Given the description of an element on the screen output the (x, y) to click on. 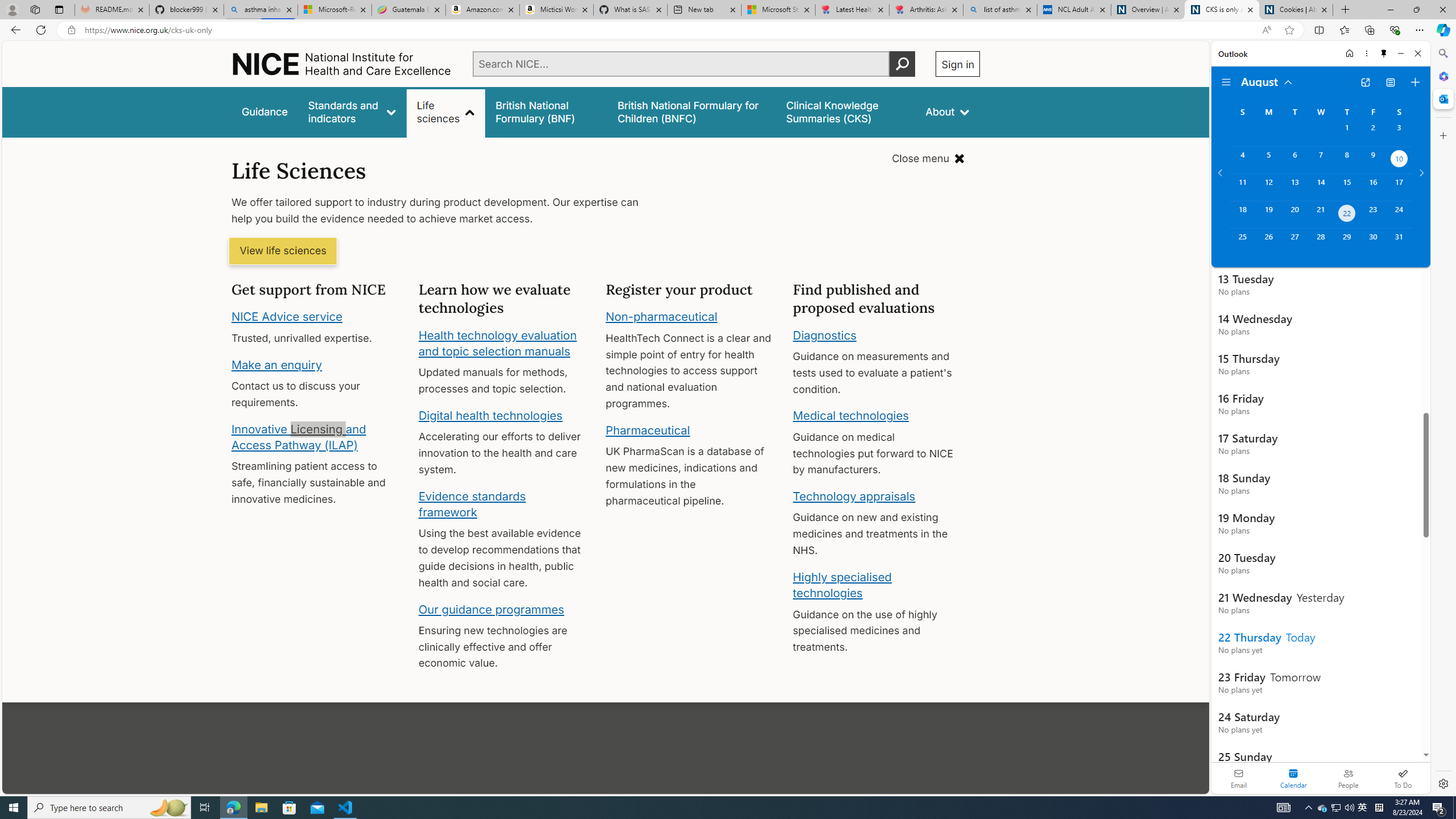
Friday, August 23, 2024.  (1372, 214)
Friday, August 9, 2024.  (1372, 159)
Thursday, August 8, 2024.  (1346, 159)
NCL Adult Asthma Inhaler Choice Guideline (1073, 9)
Friday, August 30, 2024.  (1372, 241)
Microsoft-Report a Concern to Bing (334, 9)
Digital health technologies (490, 414)
